Given the description of an element on the screen output the (x, y) to click on. 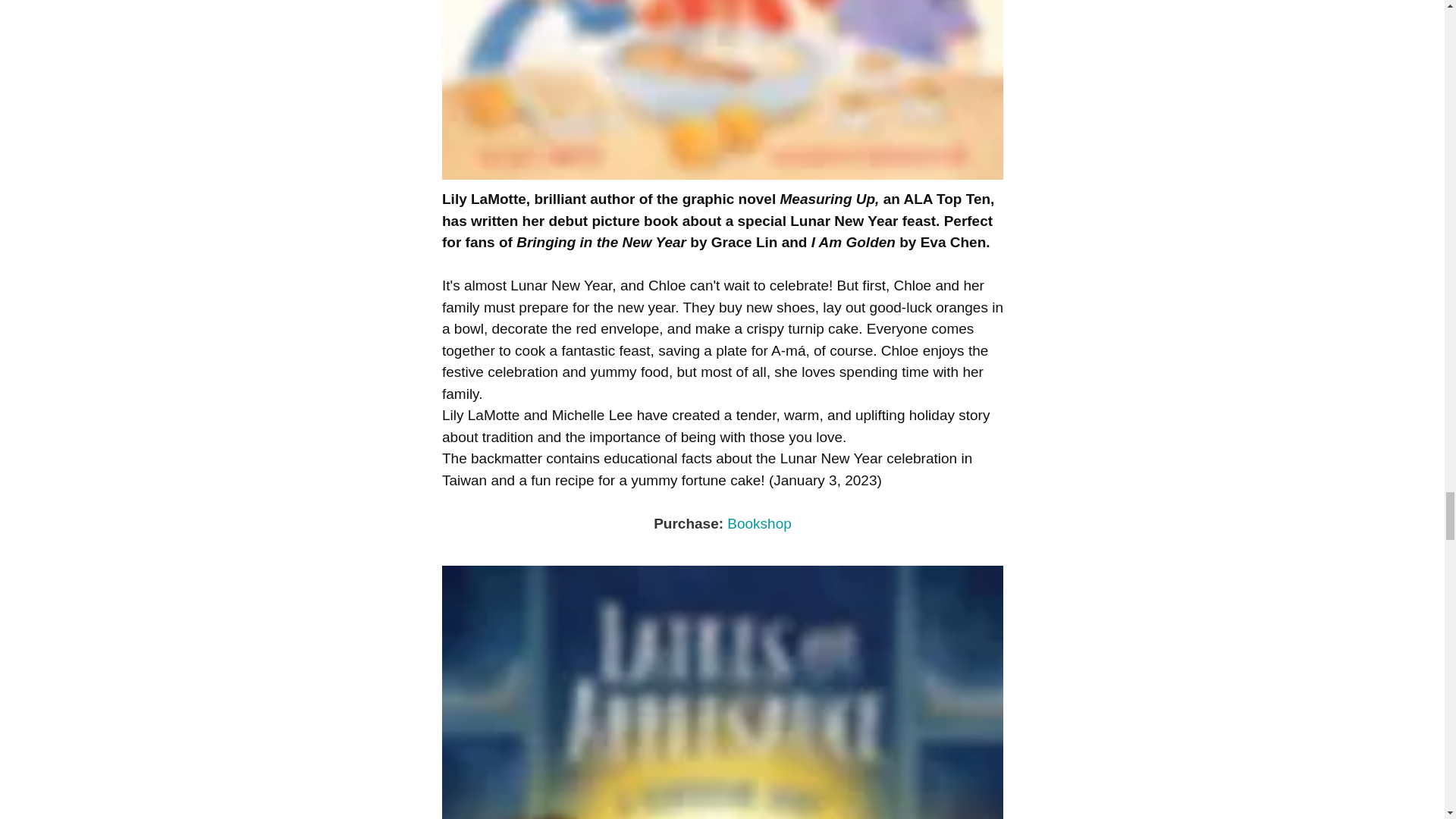
Bookshop (759, 523)
